Given the description of an element on the screen output the (x, y) to click on. 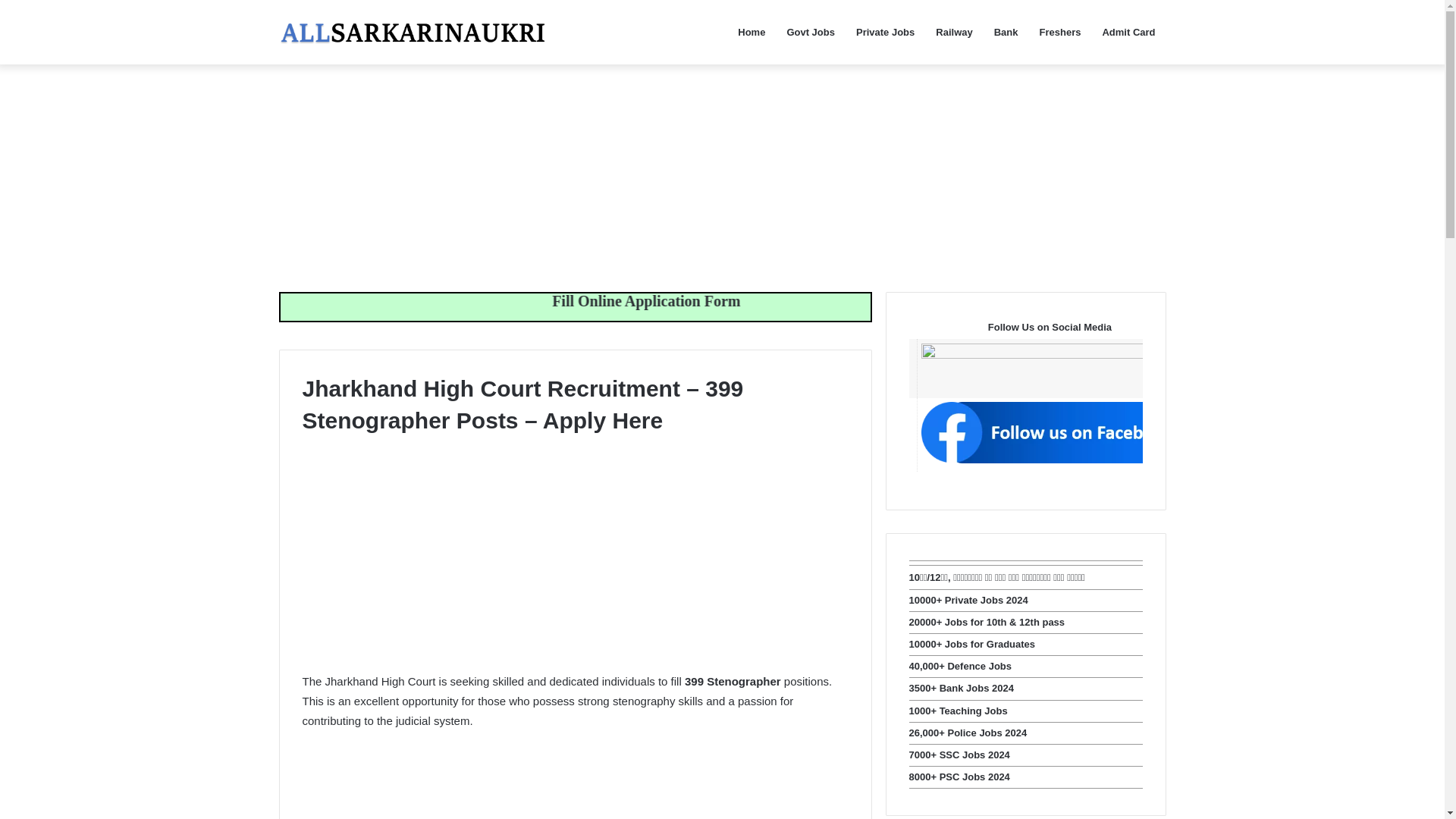
Private Jobs (884, 32)
Admit Card (1128, 32)
Freshers (1060, 32)
All Sarkari Naukri (413, 32)
Bank (1006, 32)
Home (751, 32)
Fill Online Application Form (765, 300)
Govt Jobs (810, 32)
Railway (953, 32)
